Given the description of an element on the screen output the (x, y) to click on. 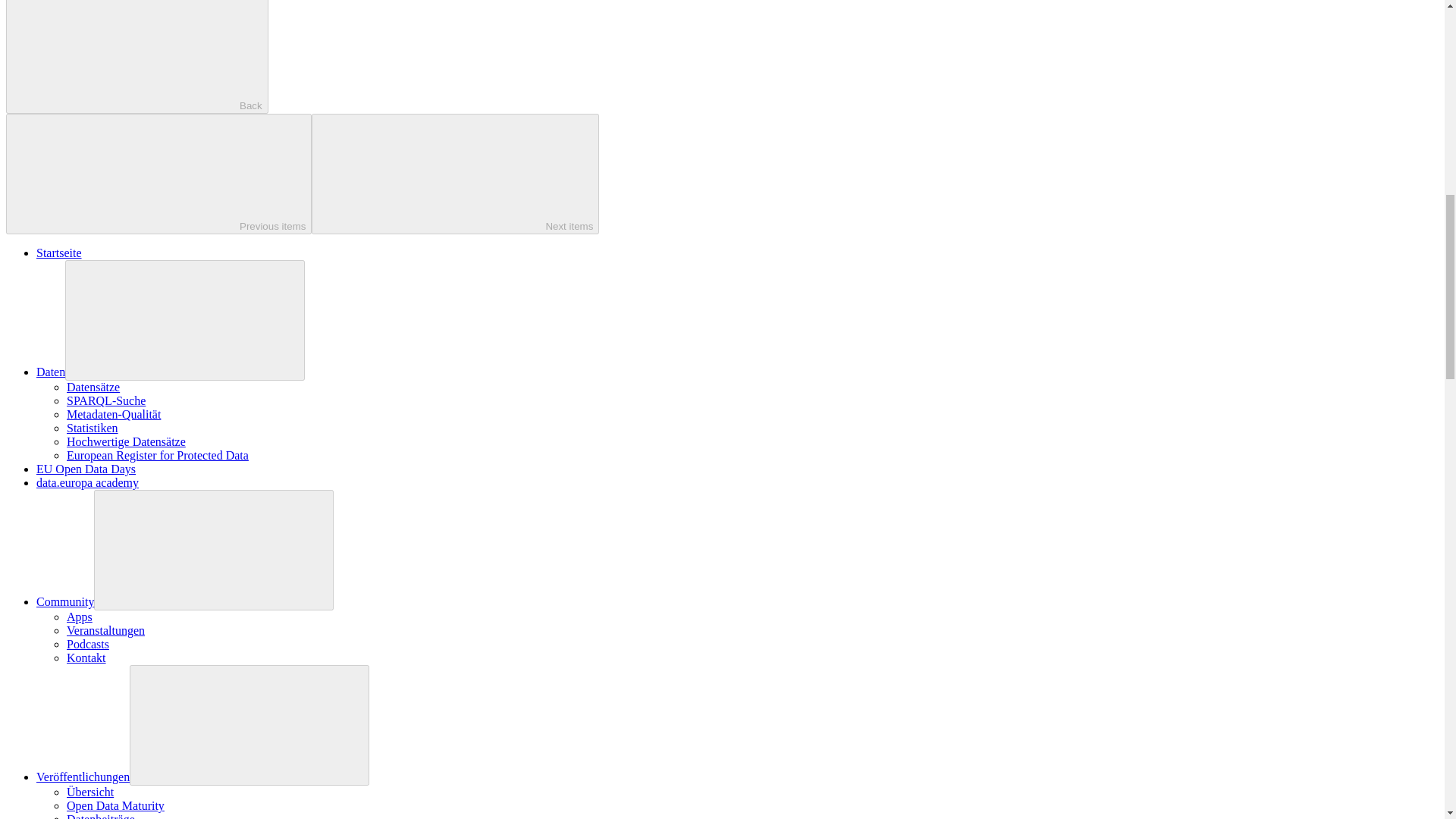
SPARQL-Suche (105, 400)
Back (136, 56)
Community (65, 601)
Open Data Maturity (115, 805)
Kontakt (86, 657)
Next items (454, 173)
EU Open Data Days (85, 468)
Startseite (58, 252)
Apps (79, 616)
Previous items (158, 173)
